Given the description of an element on the screen output the (x, y) to click on. 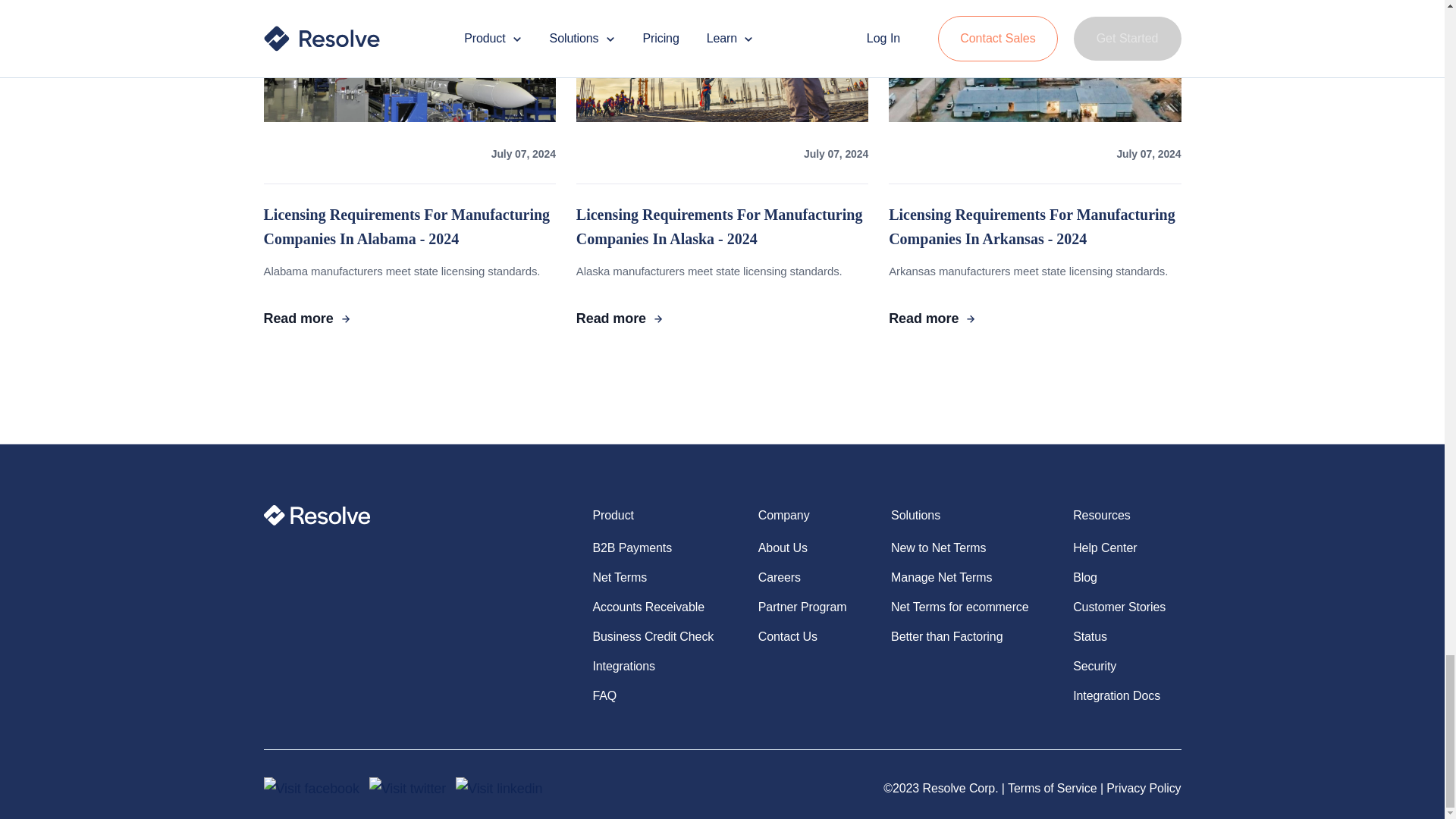
Logo new (317, 515)
